Given the description of an element on the screen output the (x, y) to click on. 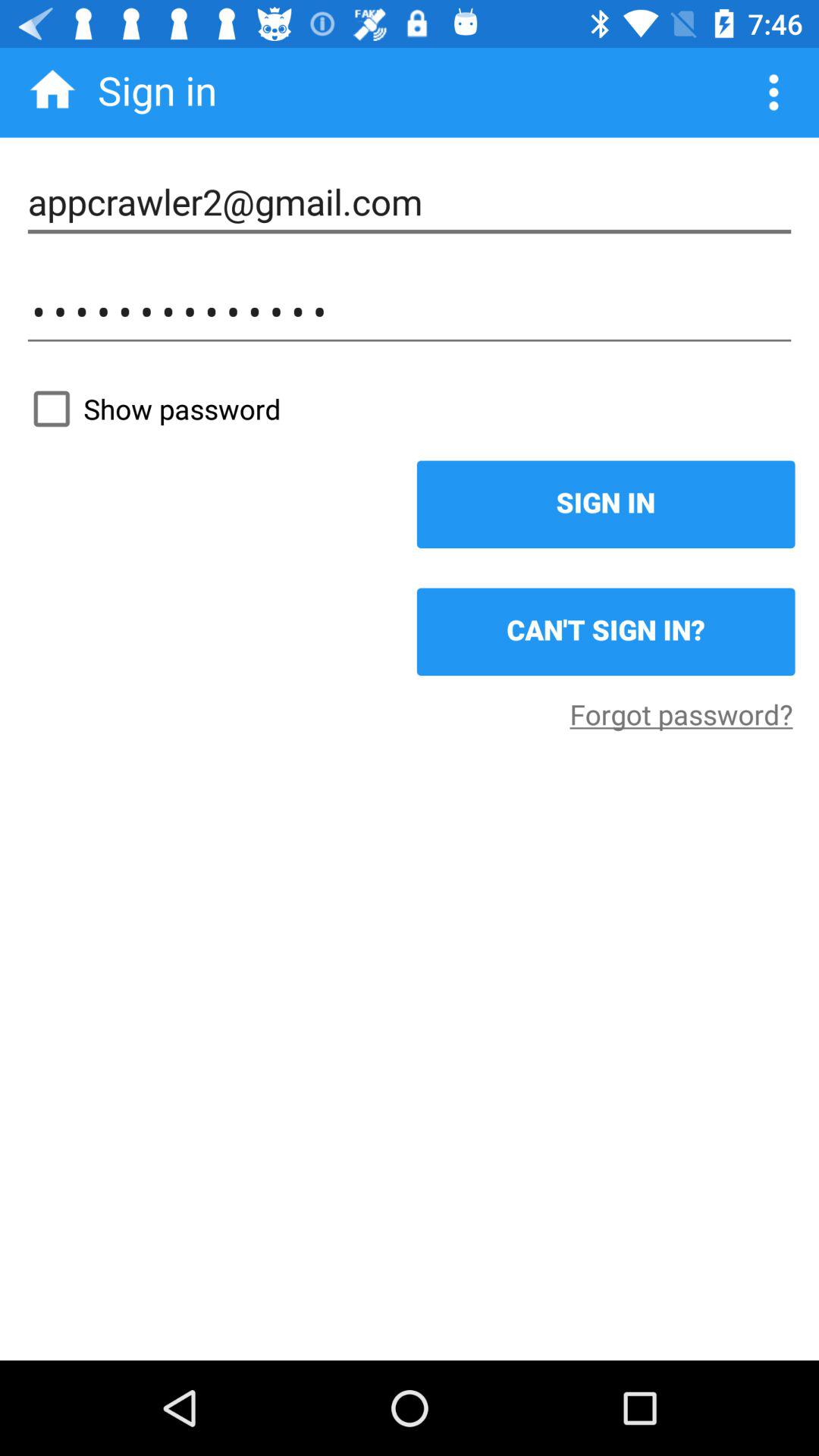
open the icon above appcrawler3116 (409, 202)
